Given the description of an element on the screen output the (x, y) to click on. 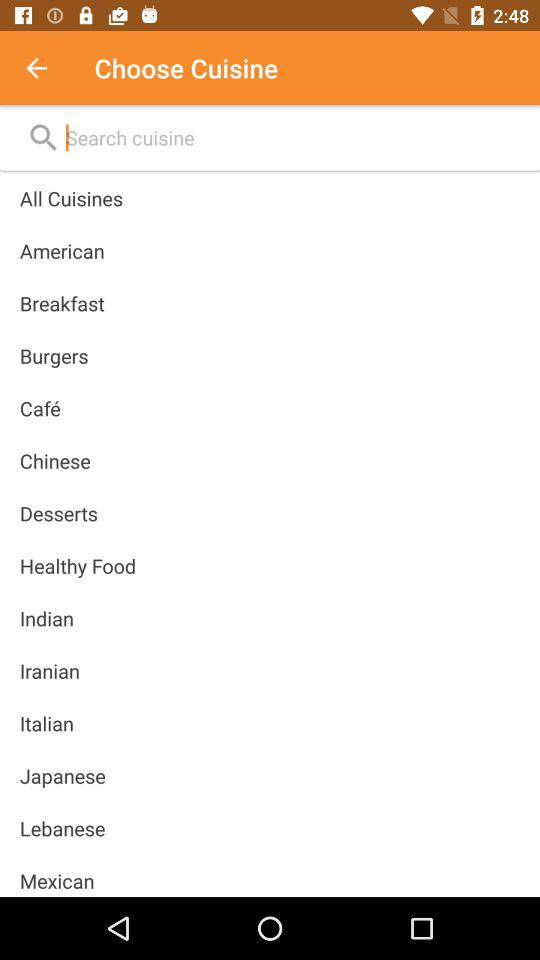
go back (47, 68)
